Given the description of an element on the screen output the (x, y) to click on. 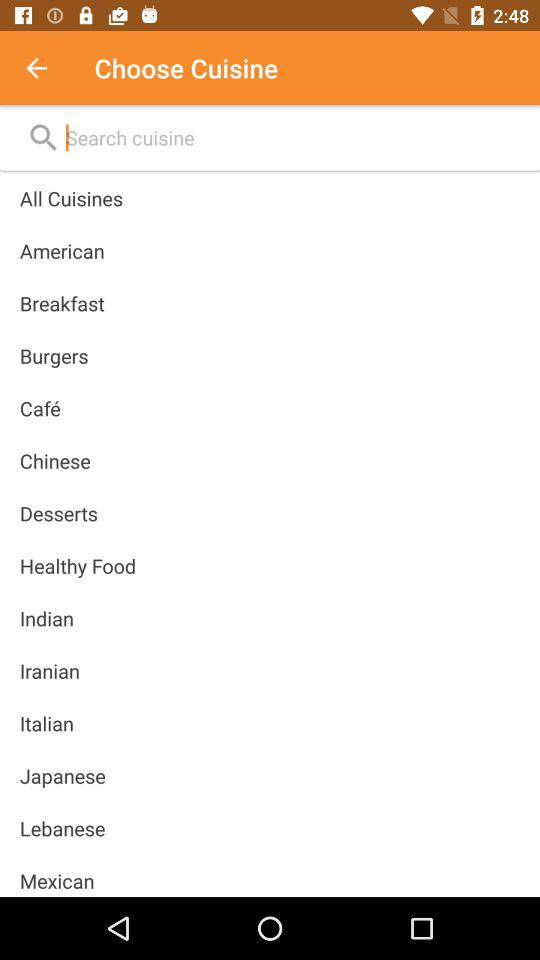
go back (47, 68)
